Given the description of an element on the screen output the (x, y) to click on. 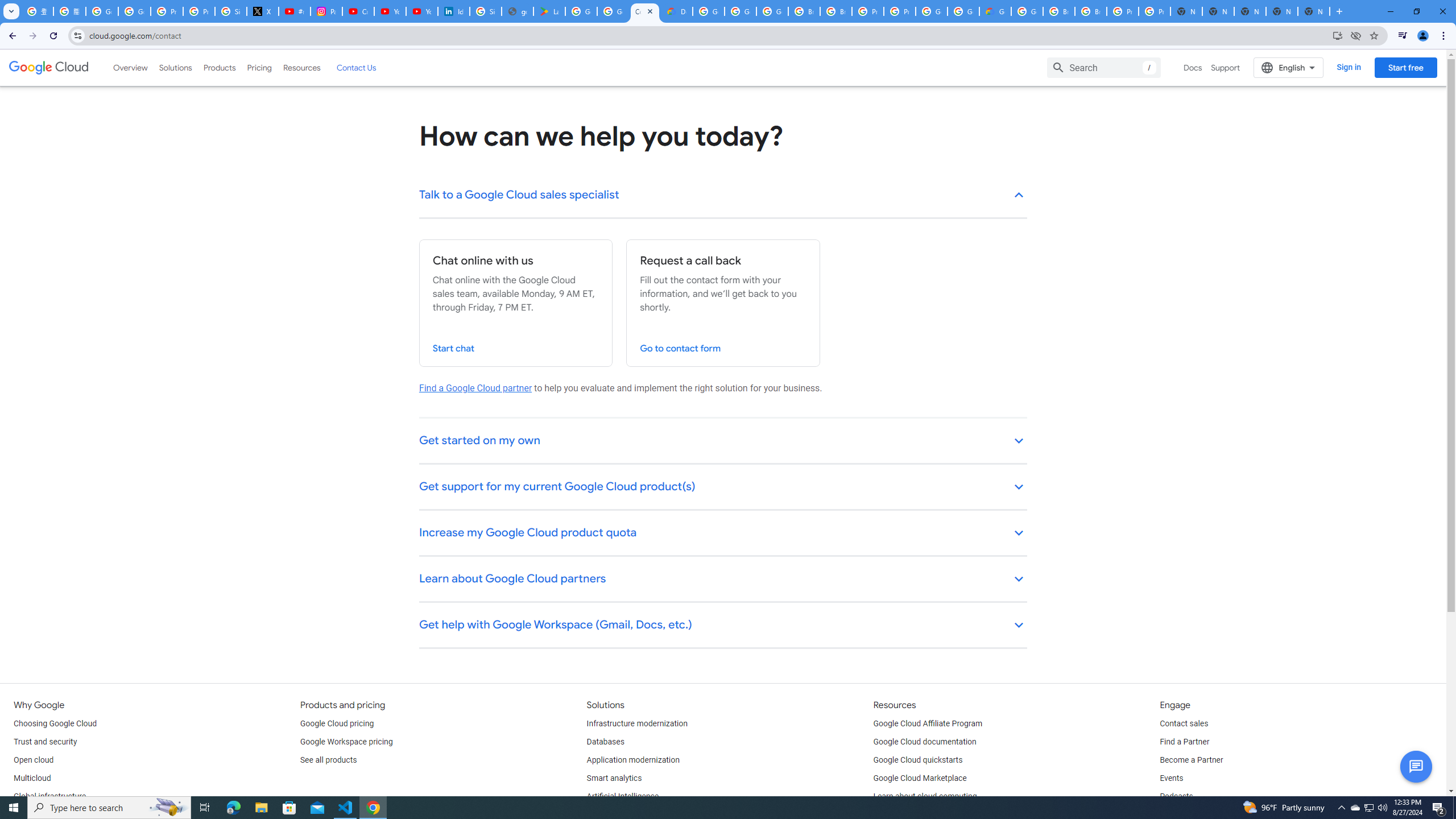
Support (1225, 67)
Open cloud (33, 760)
Google Cloud pricing (336, 723)
Find a Google Cloud partner (475, 387)
Google Workspace - Specific Terms (613, 11)
Browse Chrome as a guest - Computer - Google Chrome Help (1059, 11)
Find a Partner (1183, 742)
Google Cloud documentation (924, 742)
